Given the description of an element on the screen output the (x, y) to click on. 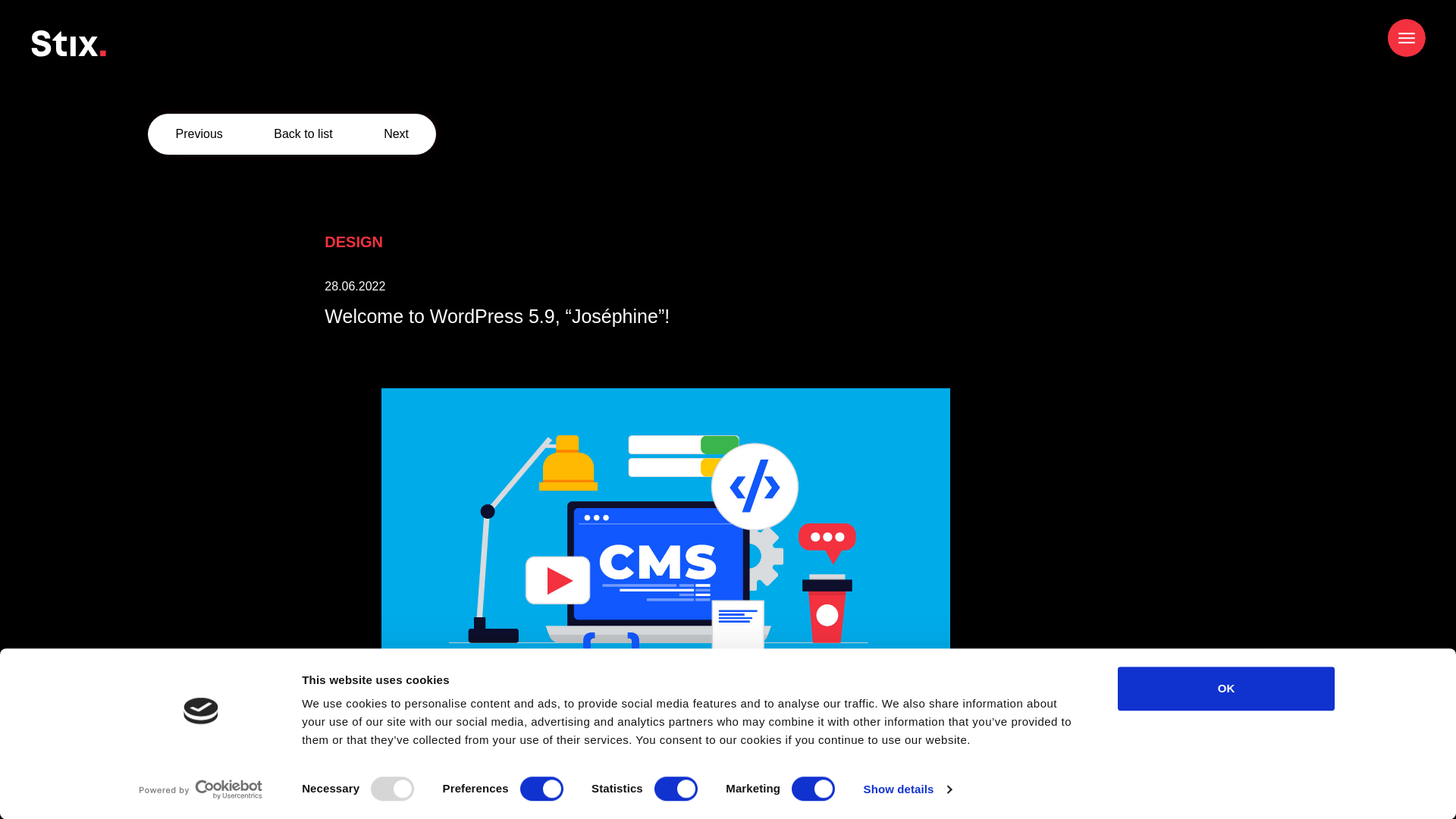
Previous (199, 133)
OK (1226, 688)
Back to list (302, 133)
Next (396, 133)
Show details (907, 789)
